Given the description of an element on the screen output the (x, y) to click on. 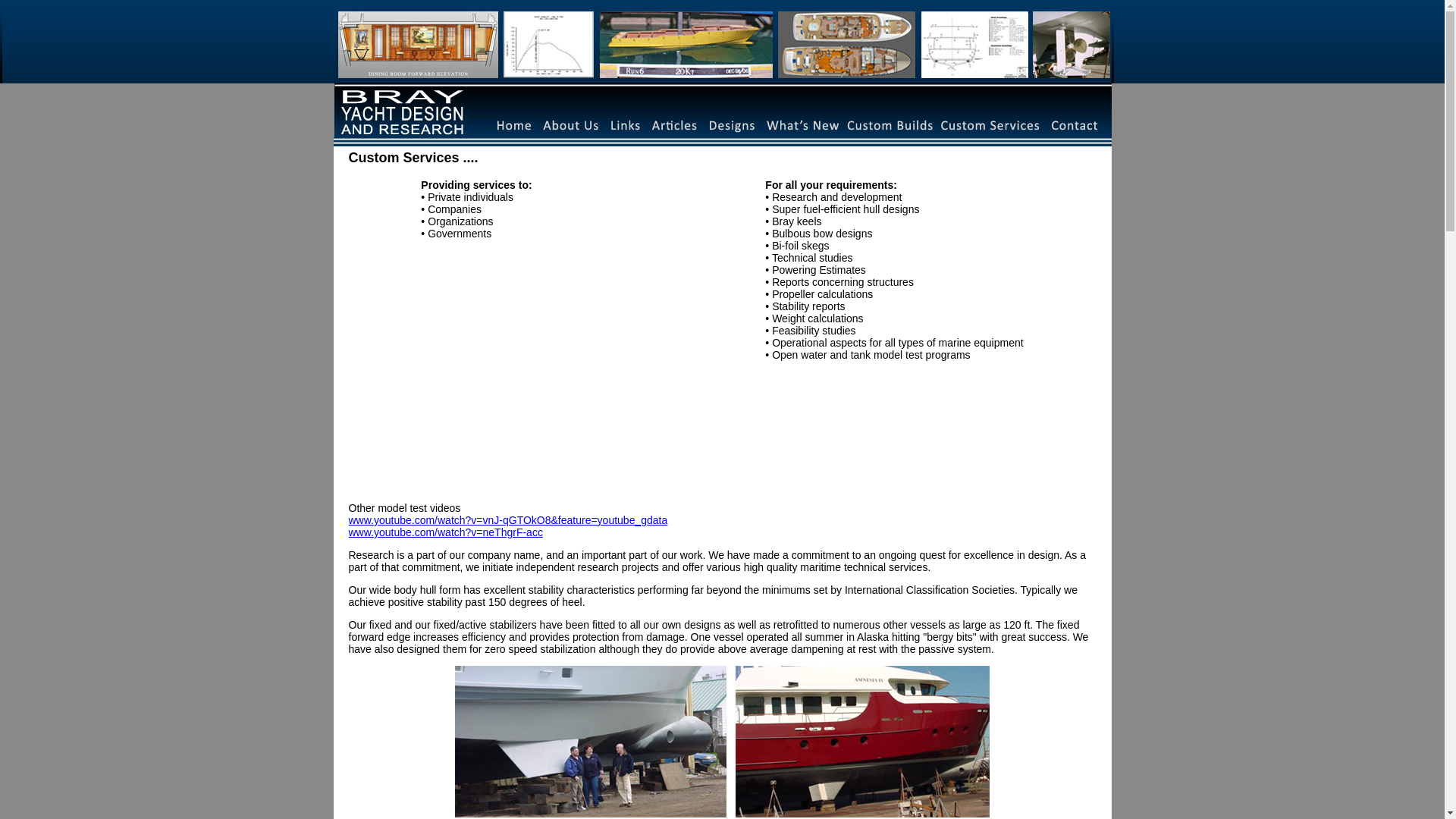
www.youtube.com/watch?v=neThgrF-acc Element type: text (445, 532)
www.youtube.com/watch?v=vnJ-qGTOkO8&feature=youtube_gdata Element type: text (508, 520)
